Given the description of an element on the screen output the (x, y) to click on. 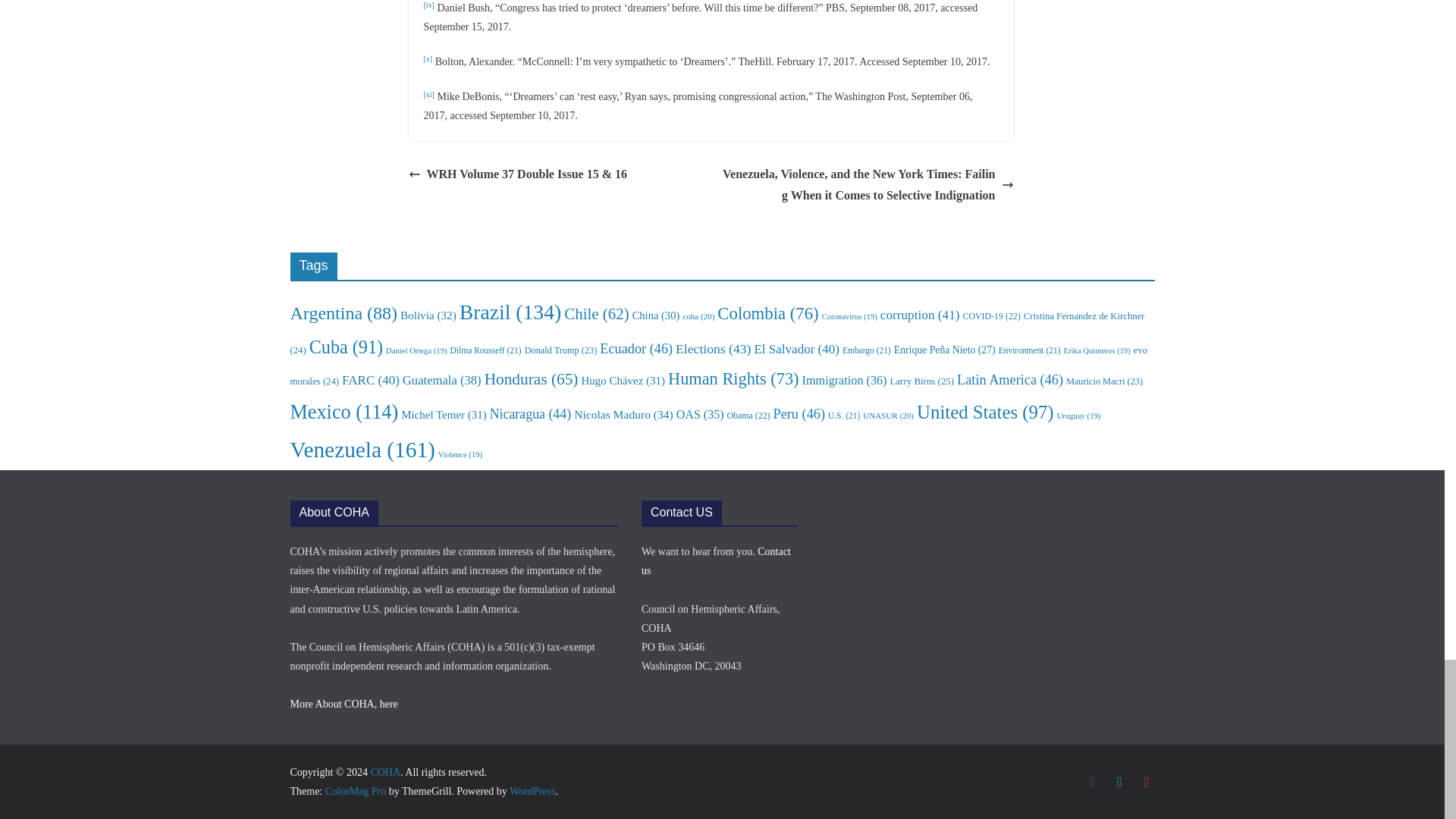
COHA (384, 772)
WordPress (531, 790)
ColorMag Pro (355, 790)
